Given the description of an element on the screen output the (x, y) to click on. 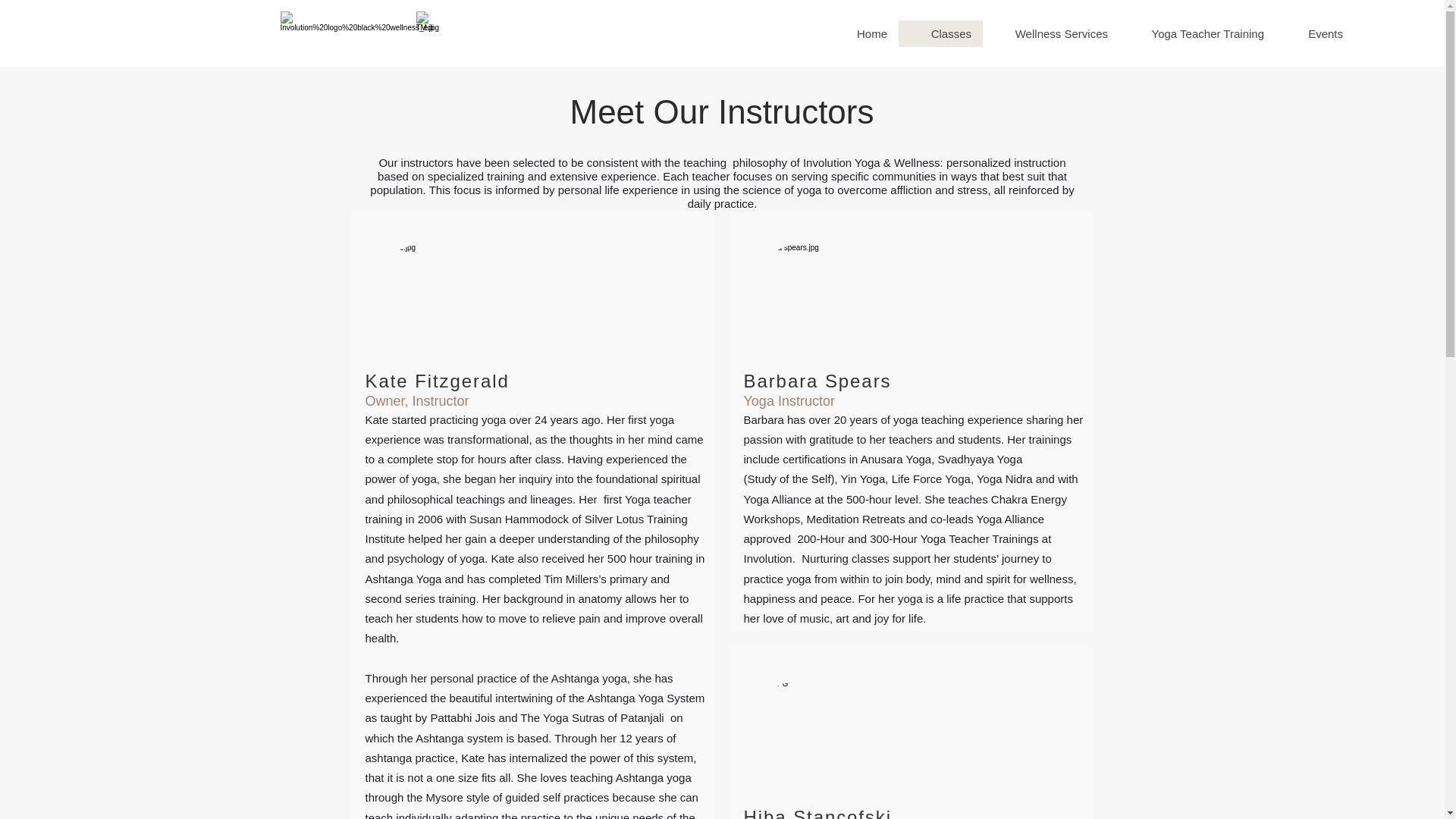
Events (1314, 33)
Home (861, 33)
Yoga Teacher Training (1197, 33)
Wellness Services (1050, 33)
Classes (940, 33)
